Given the description of an element on the screen output the (x, y) to click on. 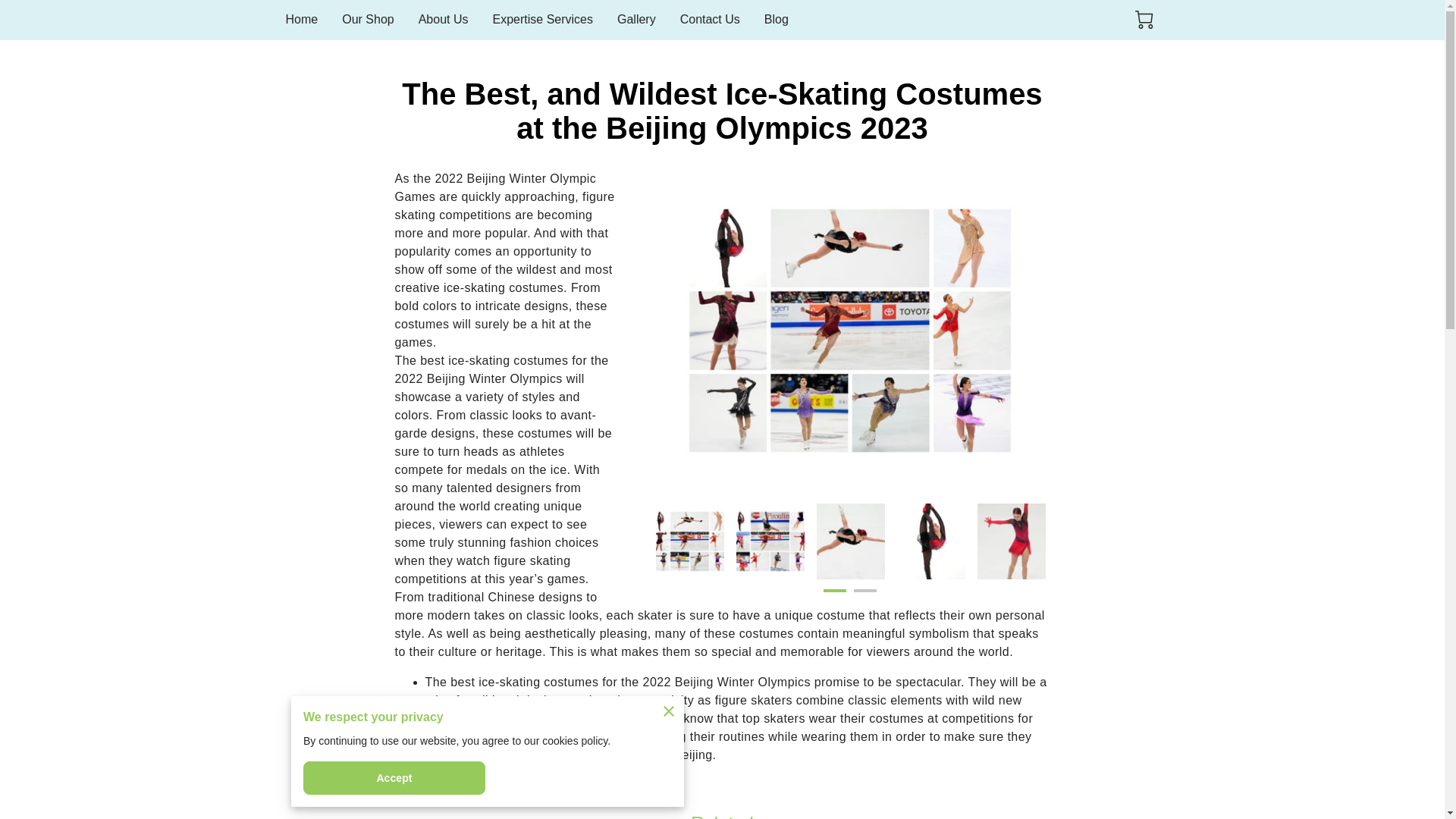
Accept (393, 777)
Expertise Services (542, 20)
Our Shop (367, 20)
Contact Us (709, 20)
2 (864, 596)
1 (834, 596)
About Us (443, 20)
Gallery (636, 20)
0 (1143, 19)
